Given the description of an element on the screen output the (x, y) to click on. 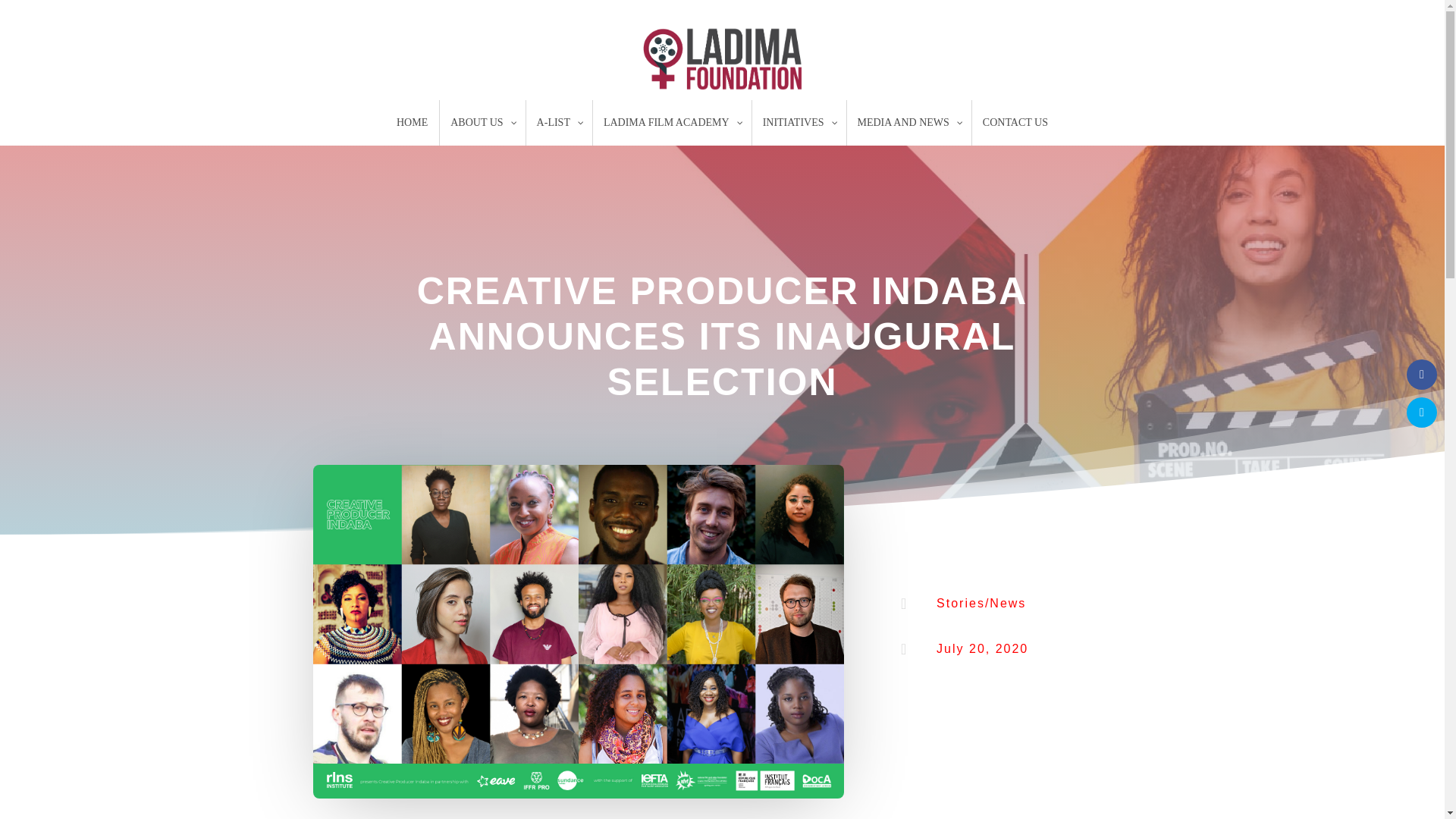
INITIATIVES (798, 122)
Ladima-Foundation (721, 58)
HOME (412, 122)
CONTACT US (1015, 122)
A-LIST (558, 122)
LADIMA FILM ACADEMY (671, 122)
ABOUT US (481, 122)
MEDIA AND NEWS (908, 122)
